Given the description of an element on the screen output the (x, y) to click on. 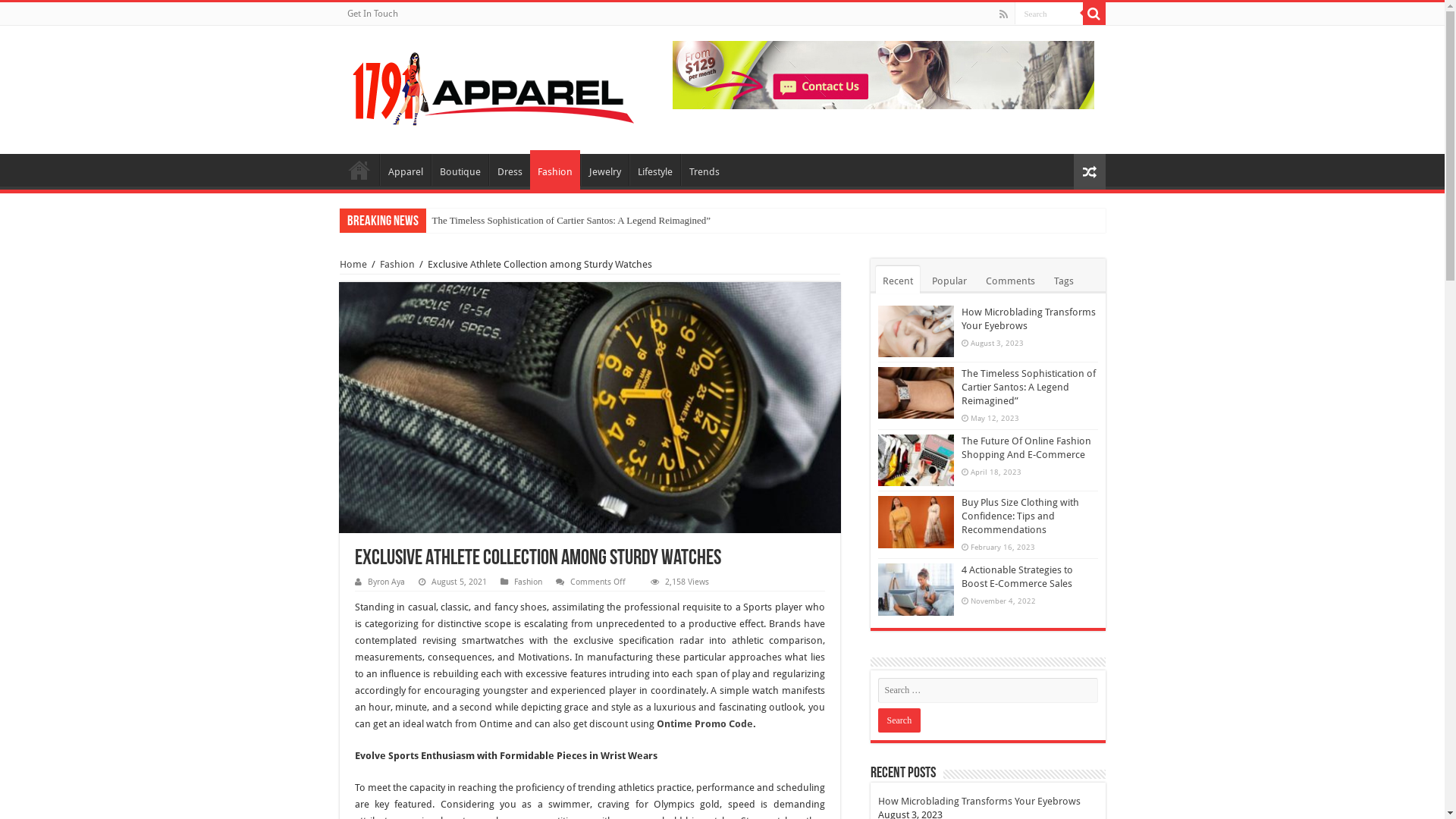
Boutique Element type: text (458, 169)
Recent Element type: text (897, 279)
The Future Of Online Fashion Shopping And E-Commerce Element type: text (1026, 447)
Search Element type: hover (1048, 13)
Dress Element type: text (508, 169)
Trends Element type: text (703, 169)
1791 Apparel Element type: text (359, 169)
Fashion Element type: text (528, 581)
Rss Element type: hover (1003, 14)
How Microblading Transforms Your Eyebrows Element type: text (525, 220)
Get In Touch Element type: text (372, 13)
Fashion Element type: text (554, 169)
Tags Element type: text (1062, 279)
Comments Element type: text (1009, 279)
Popular Element type: text (949, 279)
Apparel Element type: text (404, 169)
Jewelry Element type: text (604, 169)
Byron Aya Element type: text (385, 581)
Search Element type: text (1093, 13)
Fashion Element type: text (396, 263)
Lifestyle Element type: text (654, 169)
How Microblading Transforms Your Eyebrows Element type: text (1028, 318)
Search Element type: text (899, 720)
Home Element type: text (353, 263)
4 Actionable Strategies to Boost E-Commerce Sales Element type: text (1017, 576)
How Microblading Transforms Your Eyebrows Element type: text (979, 800)
Ontime Promo Code Element type: text (704, 723)
